Given the description of an element on the screen output the (x, y) to click on. 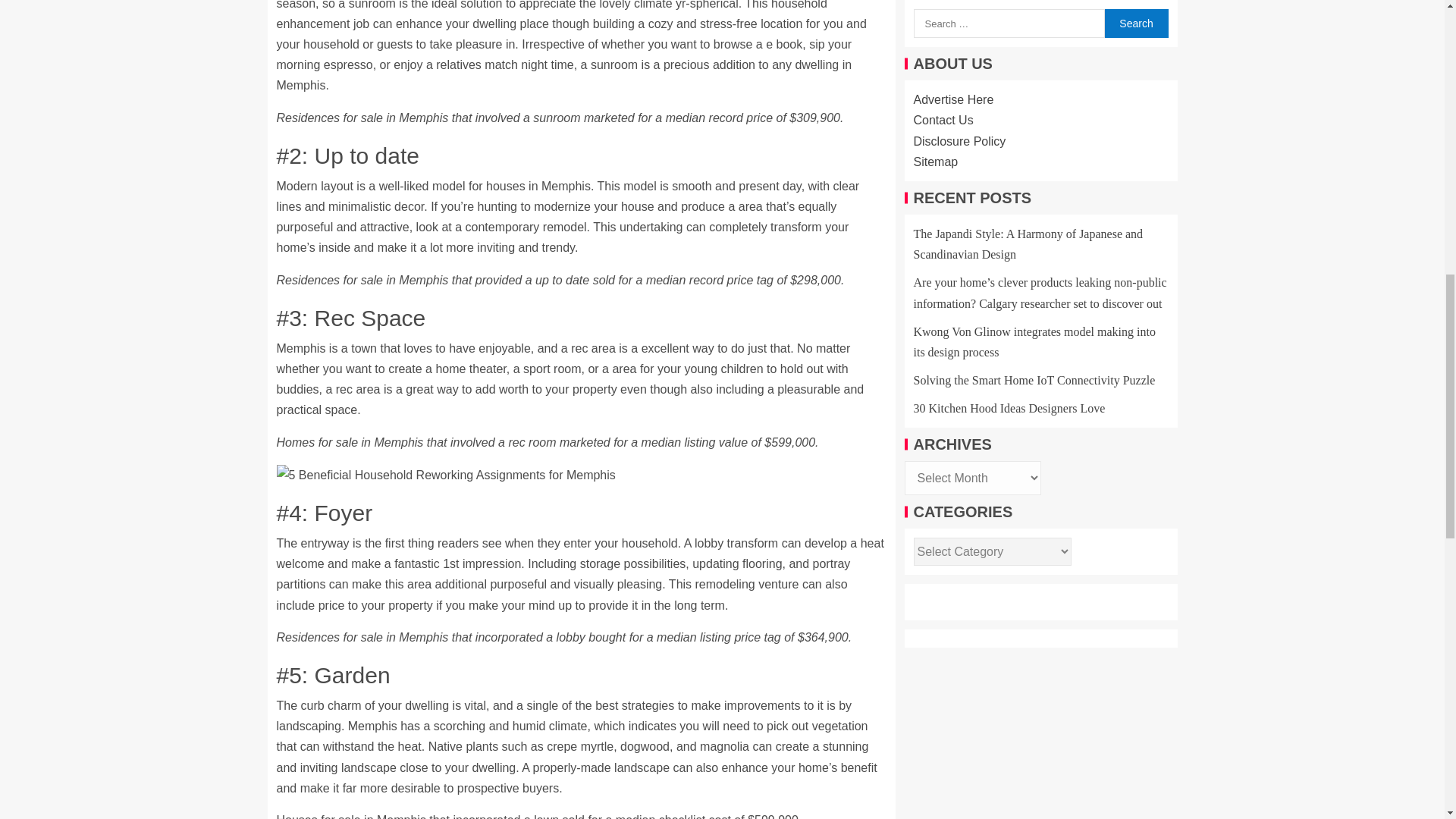
5 Beneficial Household Reworking Assignments for Memphis (445, 475)
